Given the description of an element on the screen output the (x, y) to click on. 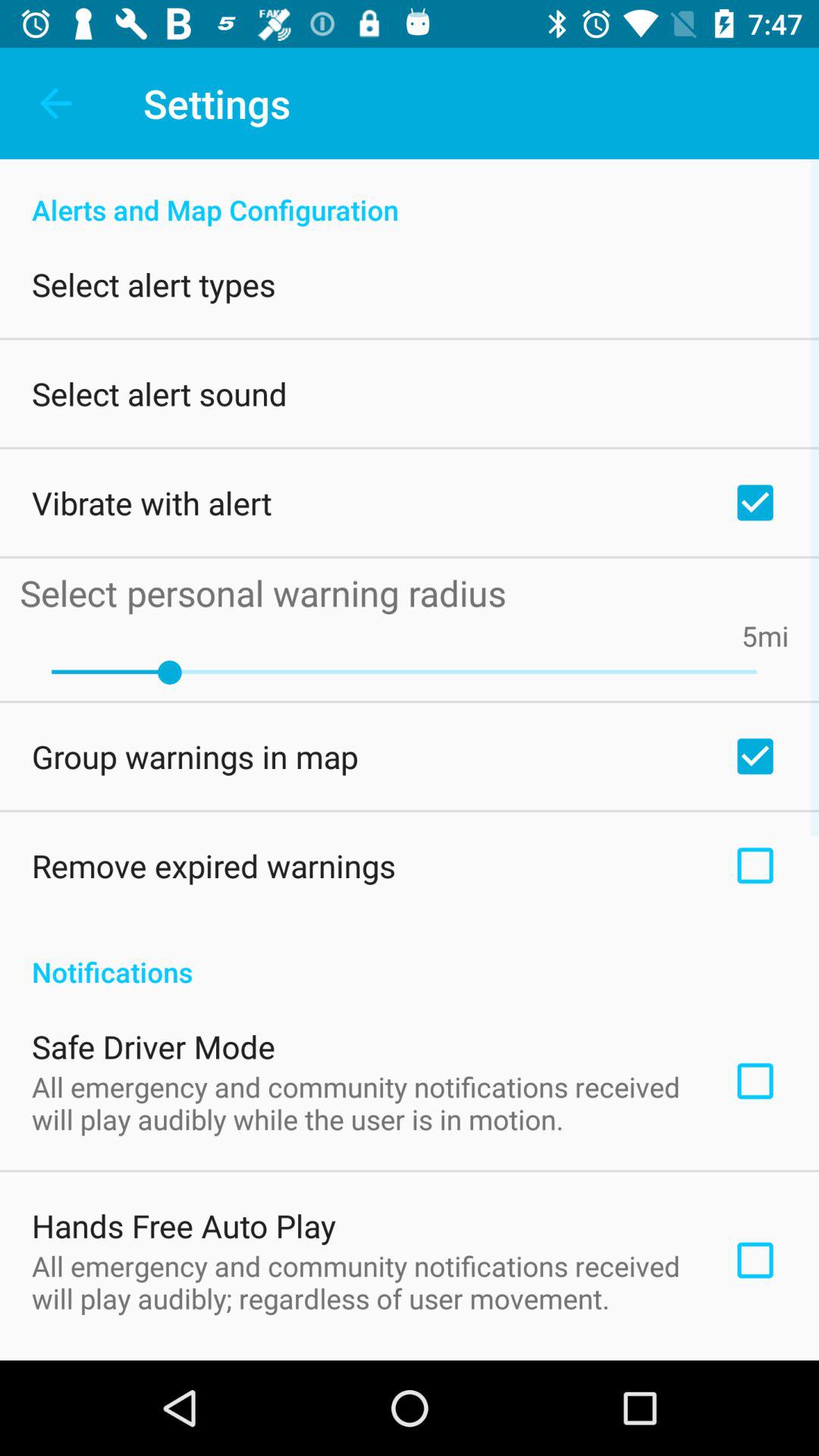
choose app next to the 5 app (772, 635)
